Given the description of an element on the screen output the (x, y) to click on. 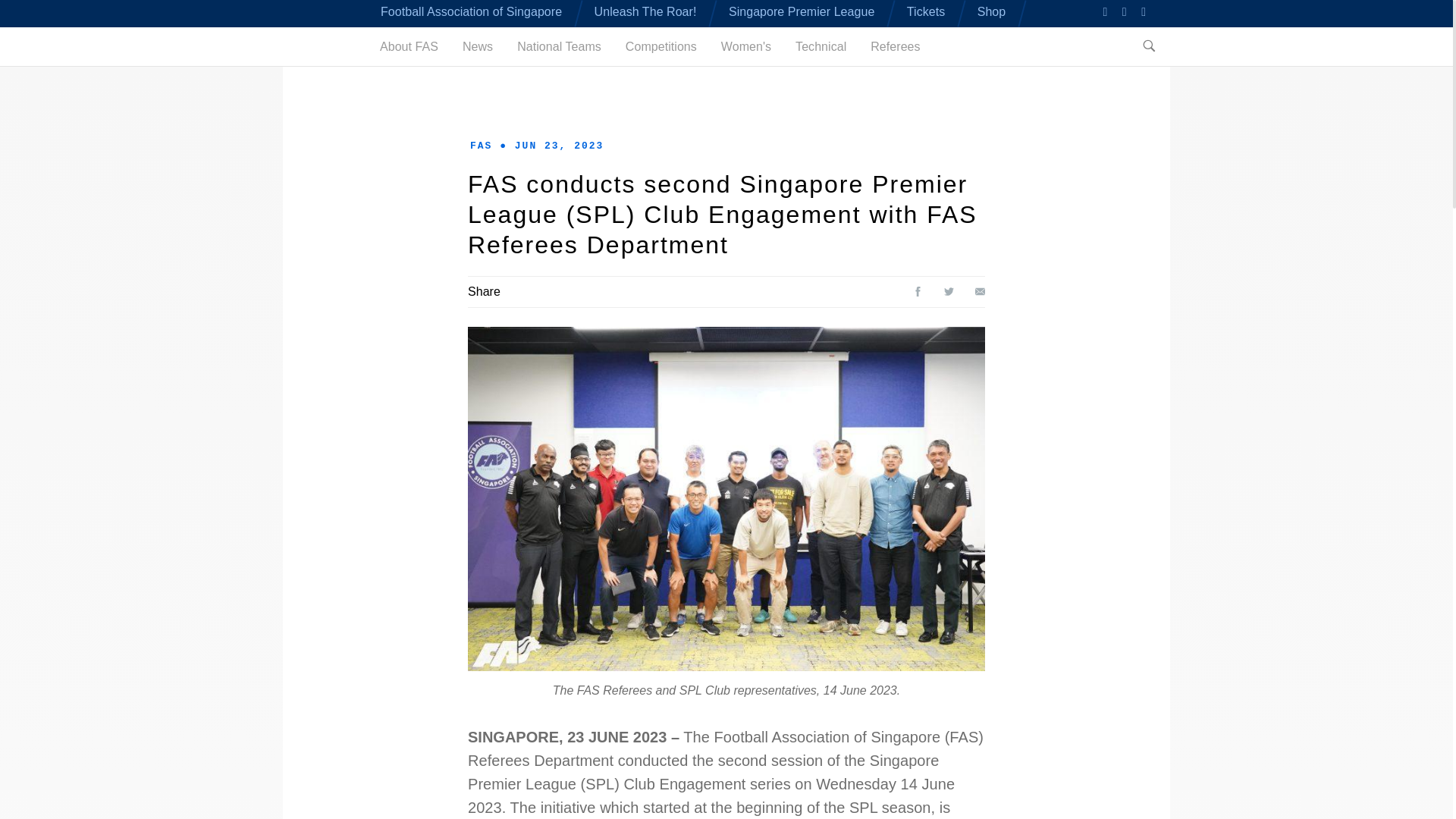
Singapore Premier League (802, 11)
Shop (991, 11)
National Teams (558, 46)
Tickets (925, 11)
About FAS (409, 46)
Unleash The Roar! (645, 11)
Football Association of Singapore (471, 11)
